Given the description of an element on the screen output the (x, y) to click on. 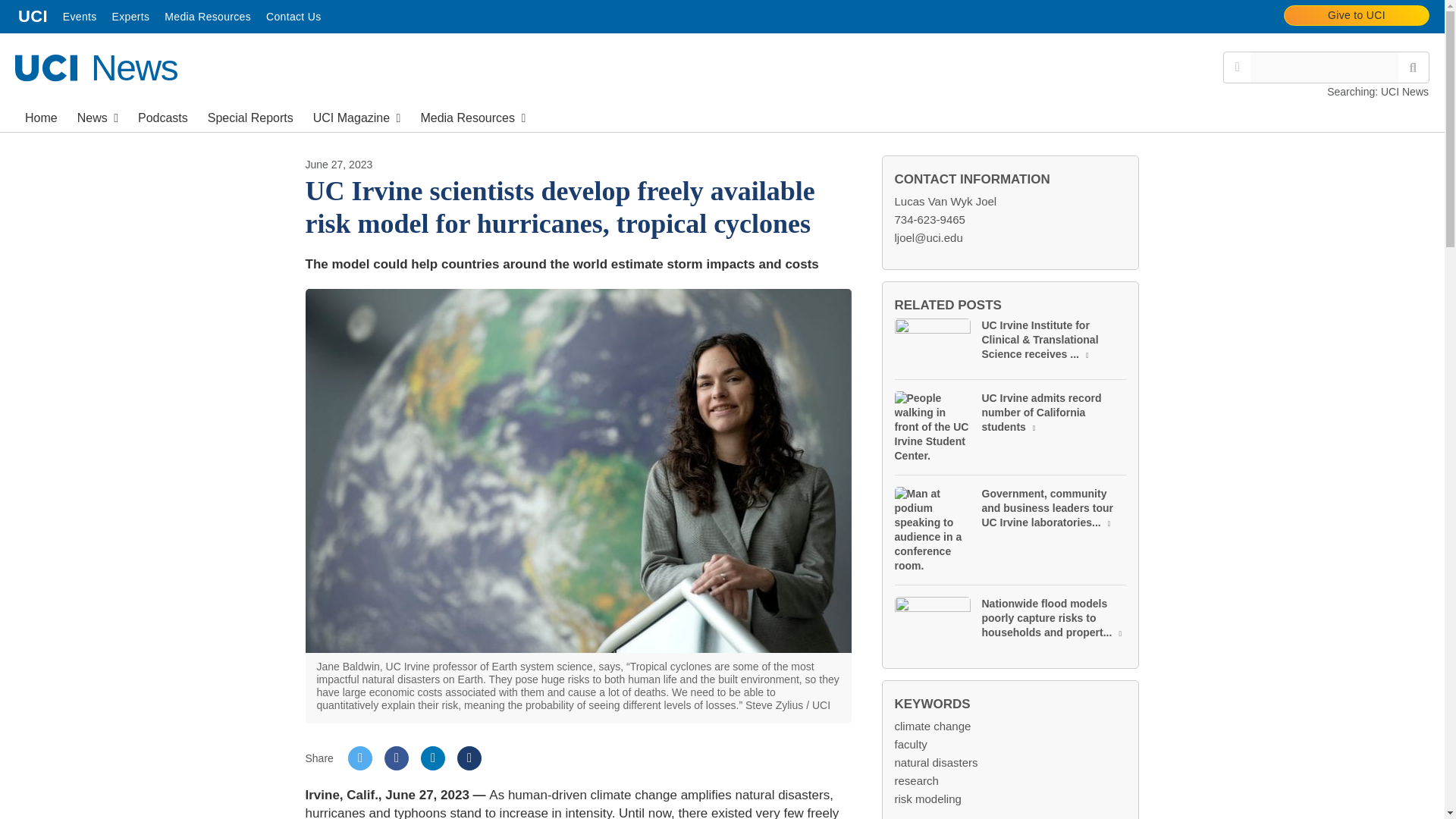
Media Resources (207, 16)
Experts (130, 16)
Contact Us (293, 16)
Home (40, 116)
Media Resources (207, 16)
News (97, 116)
Select search type (95, 67)
News (1237, 66)
Podcasts (97, 116)
Events (163, 116)
Contact Us (79, 16)
Special Reports (293, 16)
Search (1356, 14)
